Given the description of an element on the screen output the (x, y) to click on. 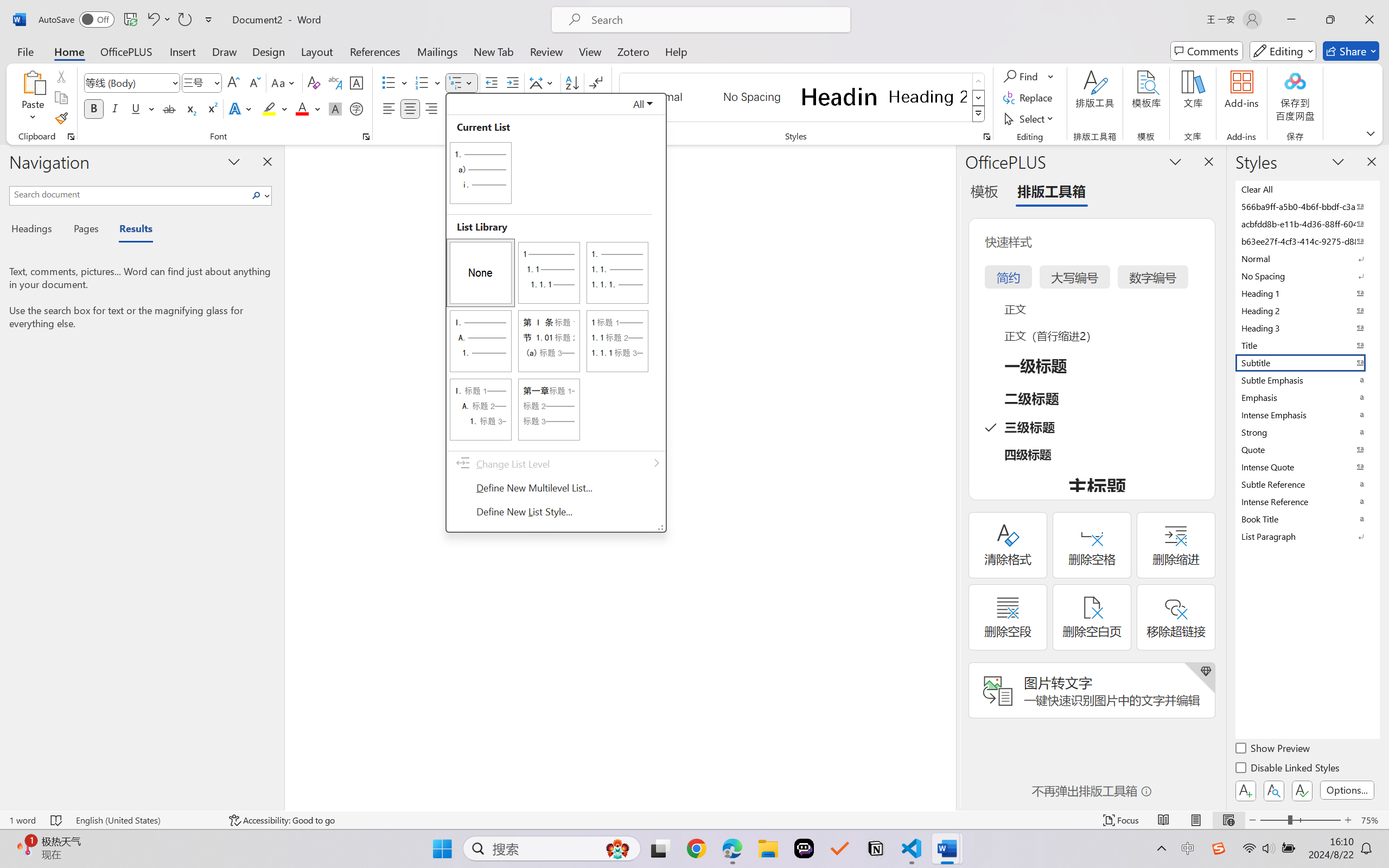
Row up (978, 81)
Intense Quote (1306, 466)
Zoom (1300, 819)
Microsoft search (715, 19)
Title (1306, 345)
Class: NetUIImage (978, 114)
New Tab (493, 51)
Normal (1306, 258)
Options... (1346, 789)
File Tab (24, 51)
